Given the description of an element on the screen output the (x, y) to click on. 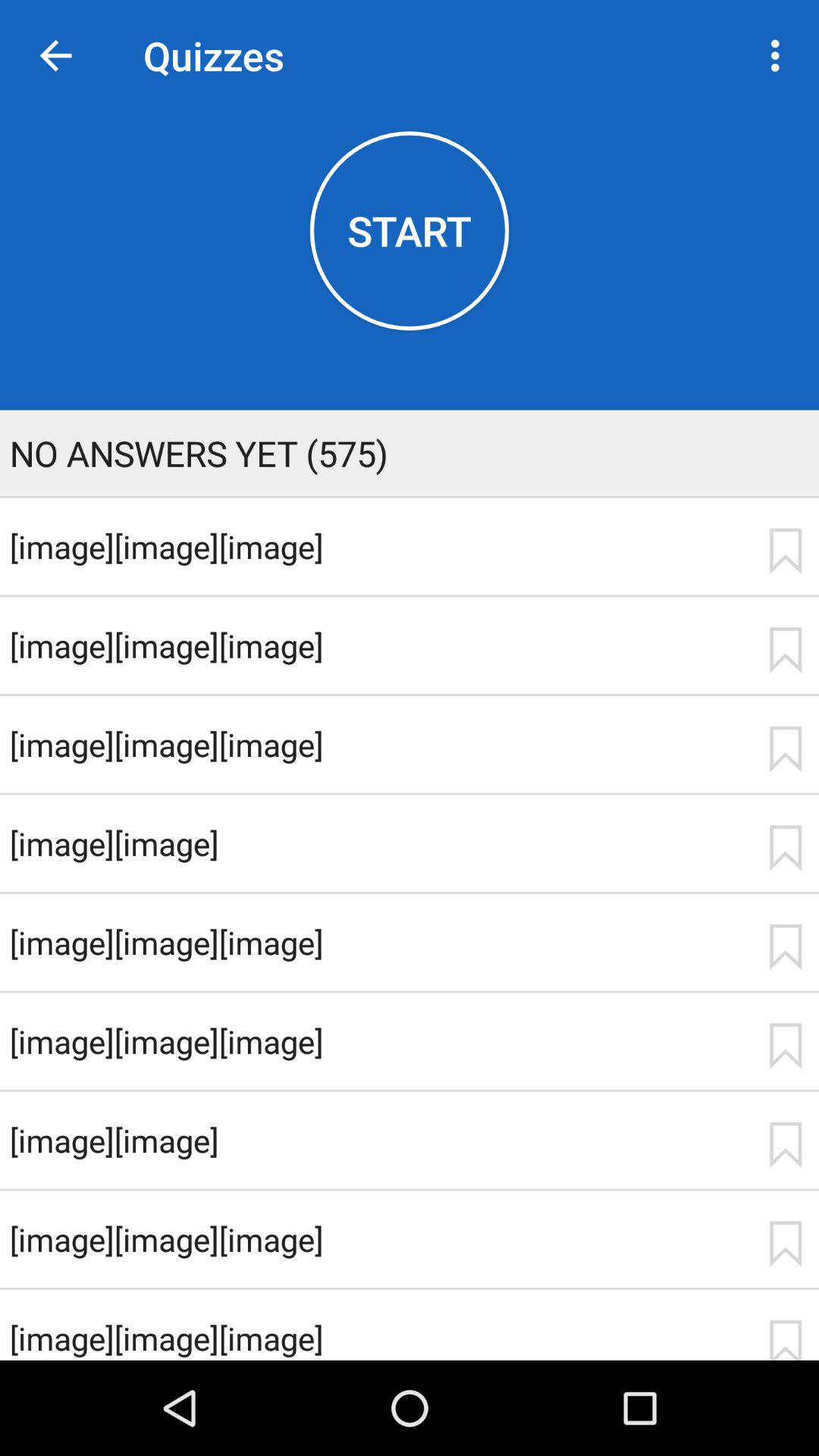
launch item next to the [image][image][image] icon (784, 1339)
